Given the description of an element on the screen output the (x, y) to click on. 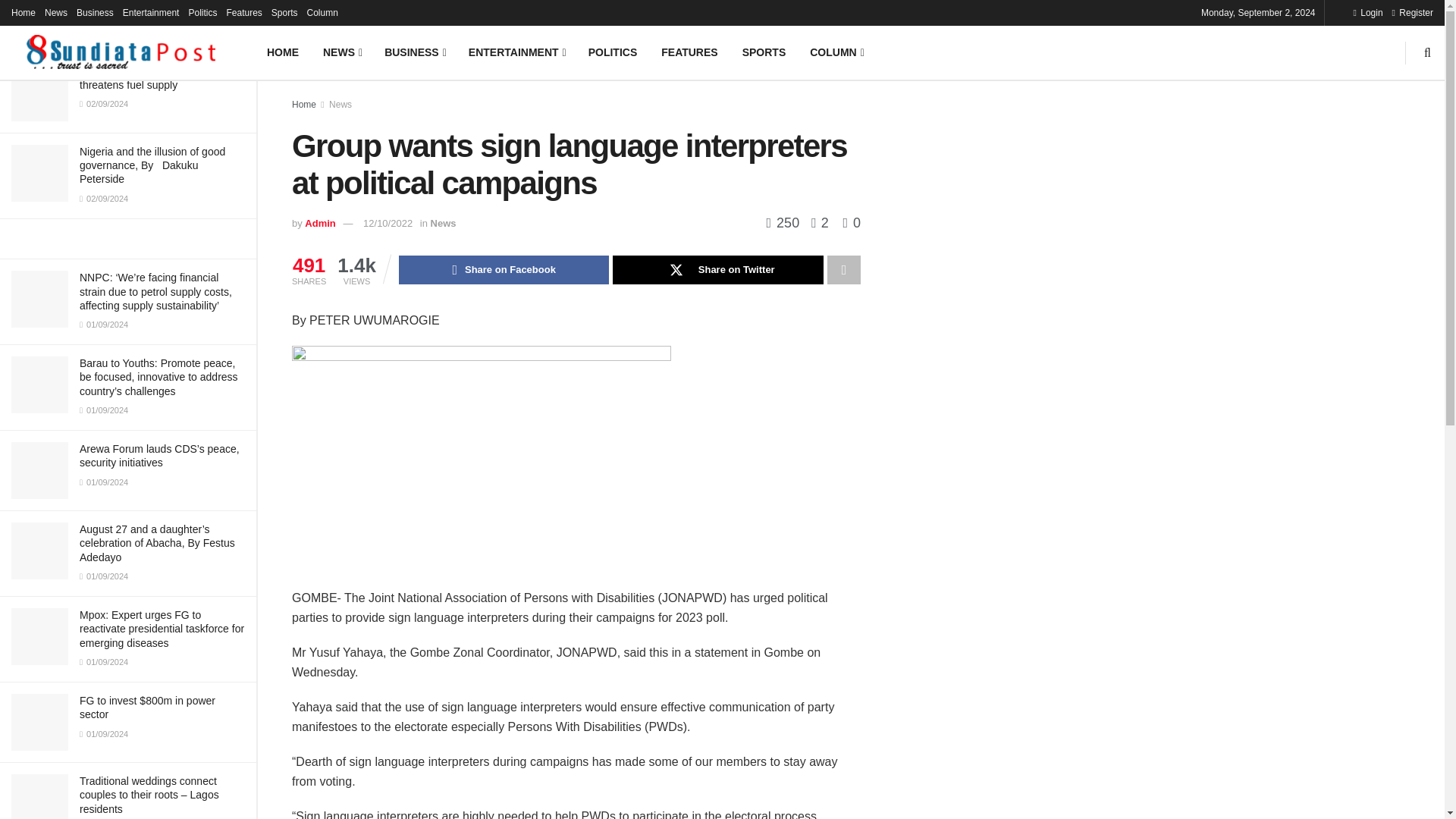
Filter (227, 13)
Home (22, 12)
NNPC Ltd. faces financial strain, threatens fuel supply (156, 77)
